Given the description of an element on the screen output the (x, y) to click on. 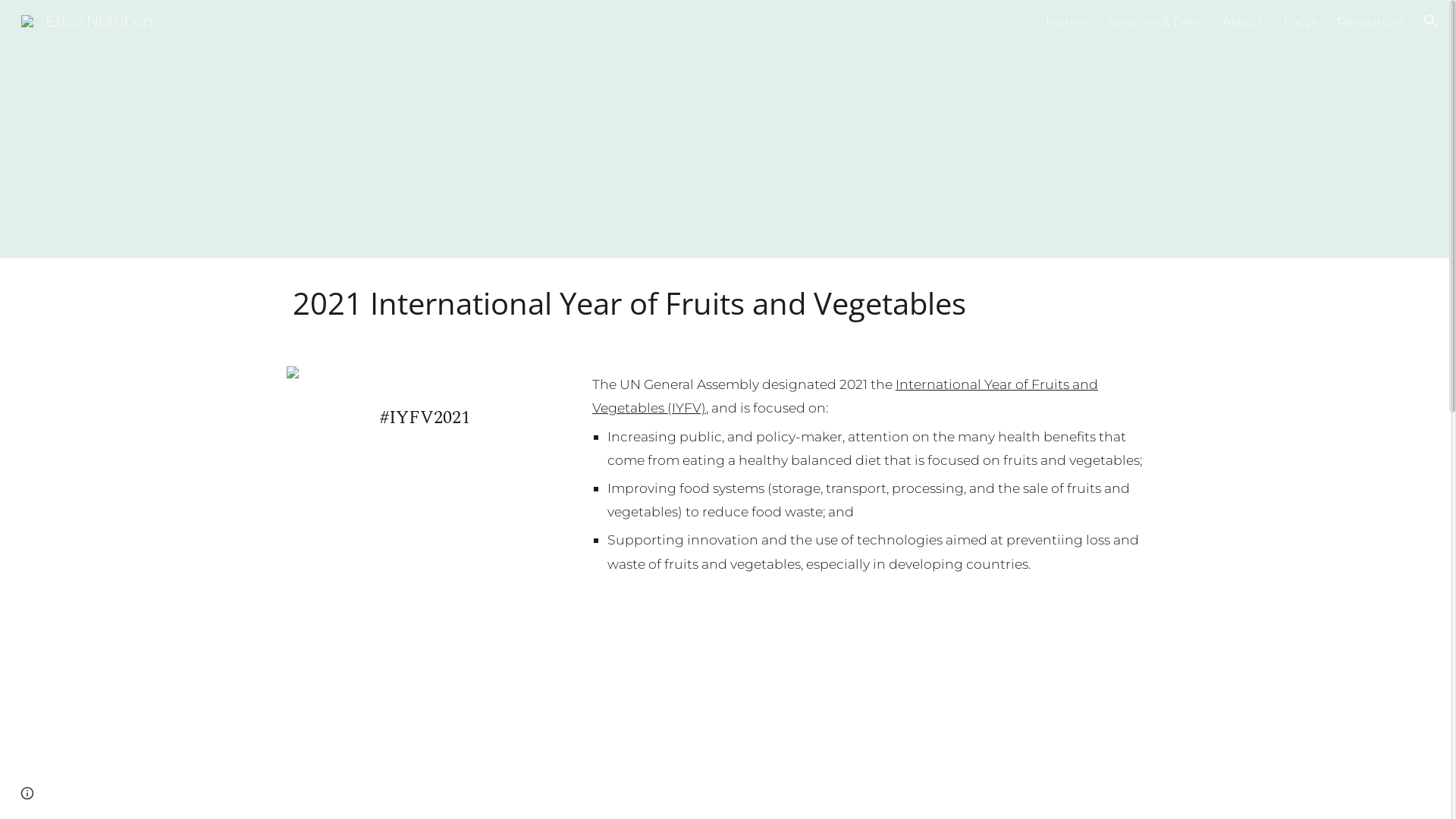
FAQs Element type: text (1300, 21)
Etico Nutrition Element type: text (87, 19)
About Element type: text (1242, 21)
International Year of Fruits and Vegetables (IYFV) Element type: text (845, 395)
Services & Fees Element type: text (1153, 21)
Home Element type: text (1065, 21)
Resources Element type: text (1369, 21)
